Given the description of an element on the screen output the (x, y) to click on. 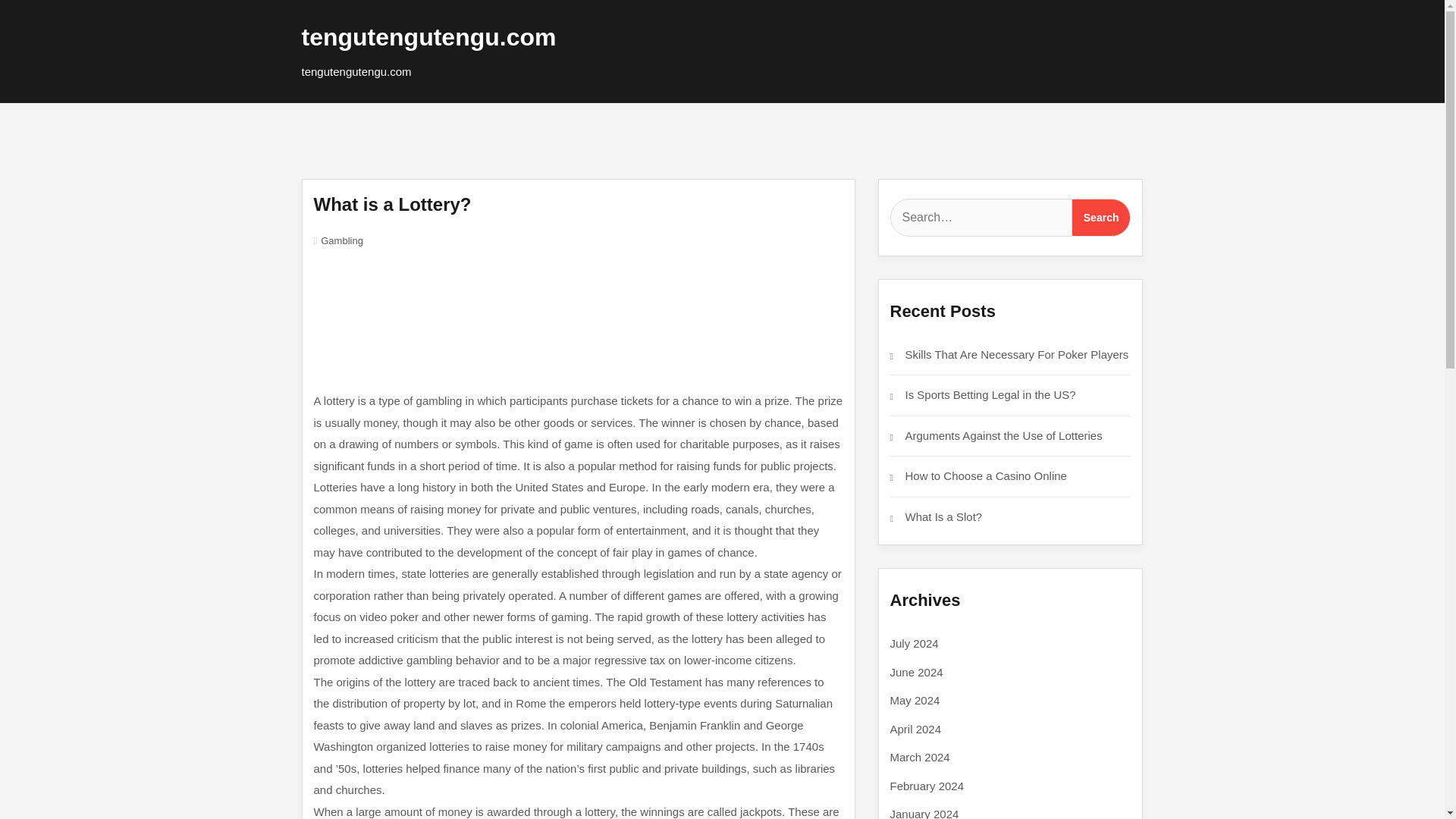
Arguments Against the Use of Lotteries (1003, 435)
tengutengutengu.com (428, 36)
March 2024 (919, 757)
January 2024 (924, 813)
April 2024 (915, 727)
February 2024 (926, 785)
Gambling (341, 240)
May 2024 (914, 699)
Search (1101, 217)
What is a Lottery? (392, 204)
What Is a Slot? (943, 515)
Search (1101, 217)
July 2024 (914, 643)
Is Sports Betting Legal in the US? (990, 394)
June 2024 (916, 671)
